Given the description of an element on the screen output the (x, y) to click on. 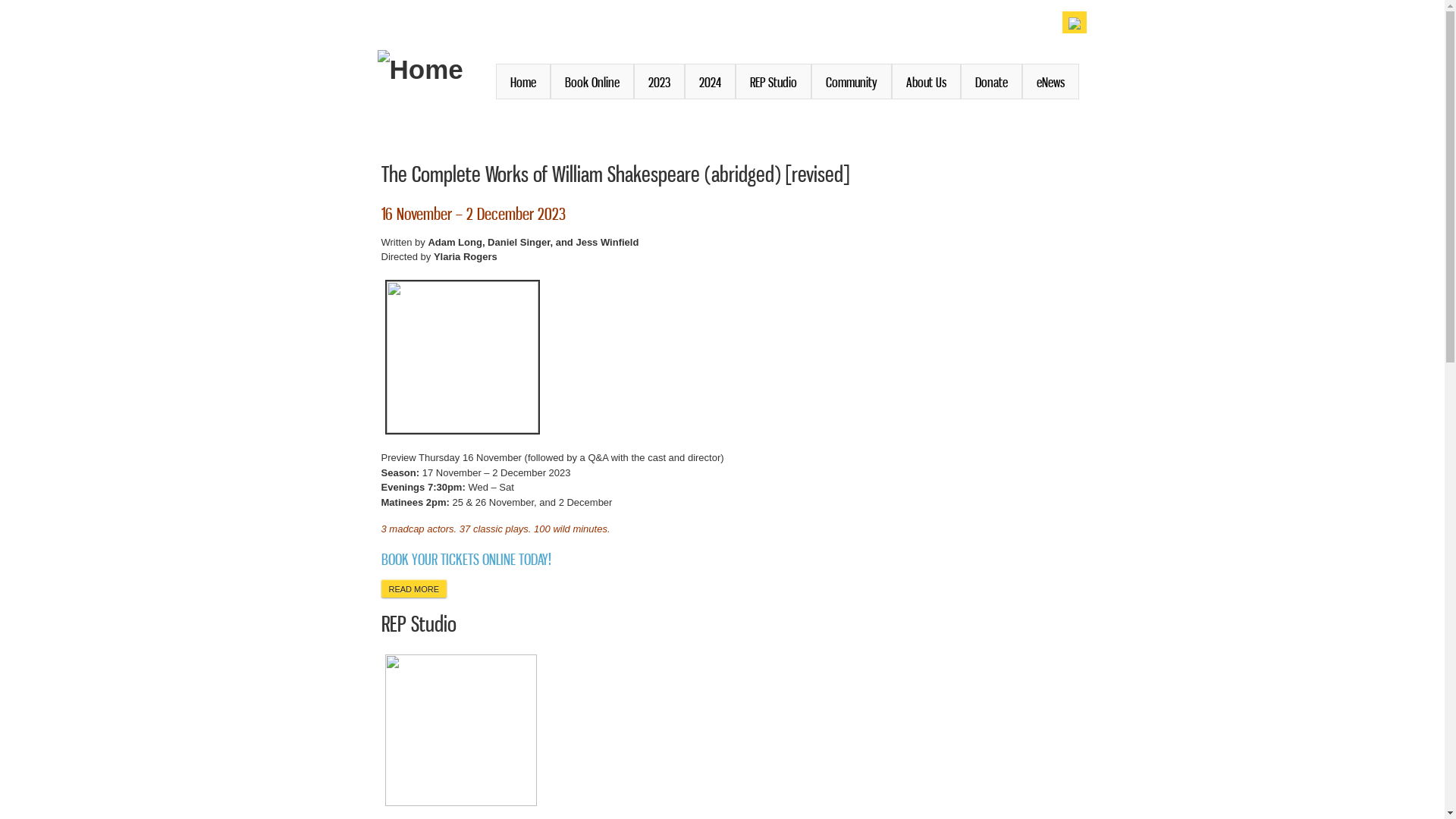
2024 Element type: text (709, 81)
Donate Element type: text (990, 81)
About Us Element type: text (925, 81)
Community Element type: text (851, 81)
Home Element type: hover (420, 69)
Skip to main content Element type: text (690, 1)
Home Element type: text (522, 81)
REP Studio Element type: text (773, 81)
2023 Element type: text (658, 81)
BOOK YOUR TICKETS ONLINE TODAY! Element type: text (465, 558)
eNews Element type: text (1050, 81)
Book Online Element type: text (591, 81)
REP Studio Element type: text (417, 623)
